Given the description of an element on the screen output the (x, y) to click on. 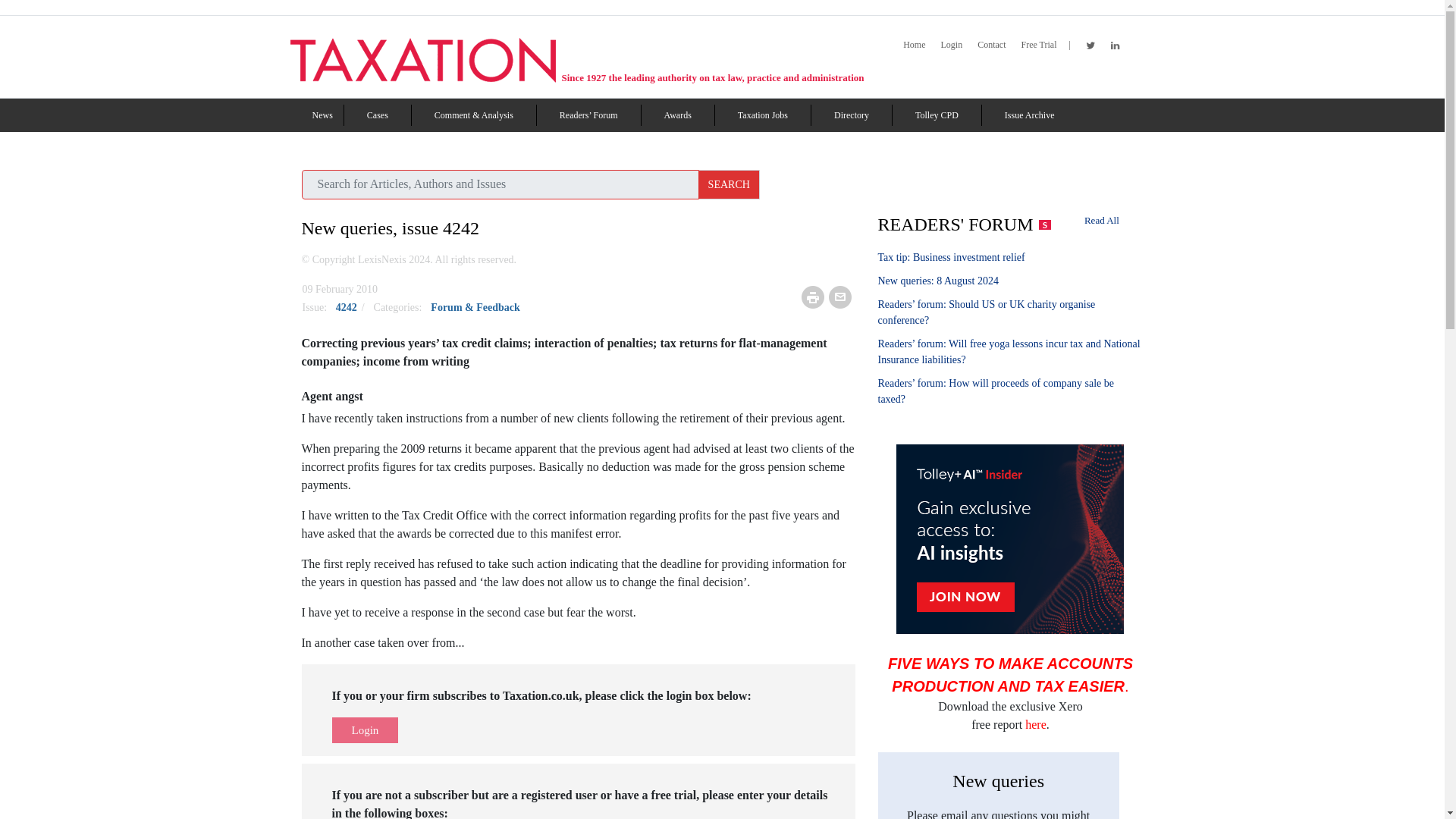
4242 (347, 307)
Tax cases (377, 115)
Taxation Jobs (762, 115)
Directory (851, 115)
Contact (991, 44)
Awards (677, 115)
Cases (377, 115)
Free Trial (1038, 44)
Tolley CPD (936, 115)
Tolley CPD (936, 115)
